Given the description of an element on the screen output the (x, y) to click on. 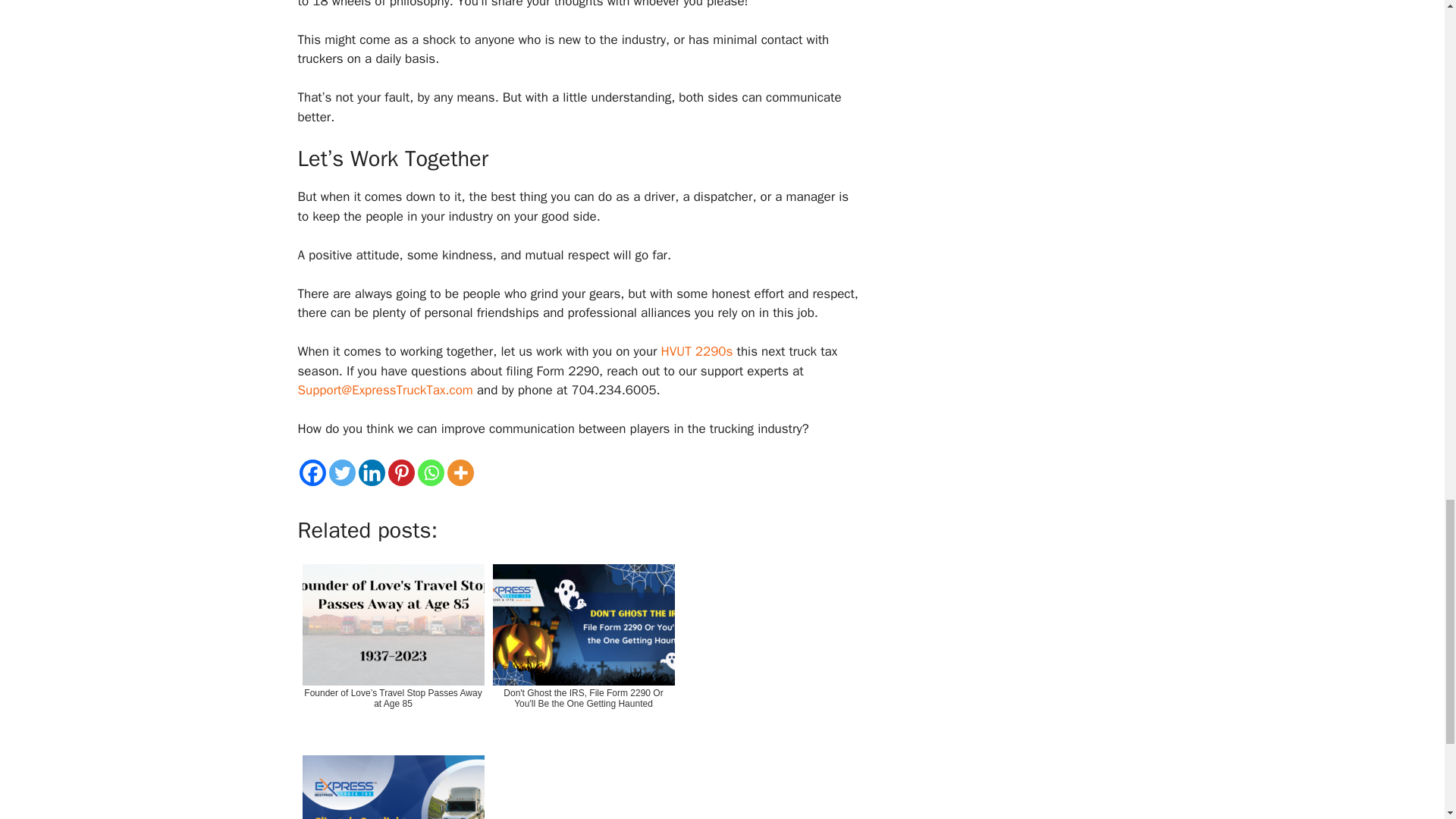
Pinterest (401, 472)
Linkedin (371, 472)
Twitter (342, 472)
Facebook (311, 472)
